Given the description of an element on the screen output the (x, y) to click on. 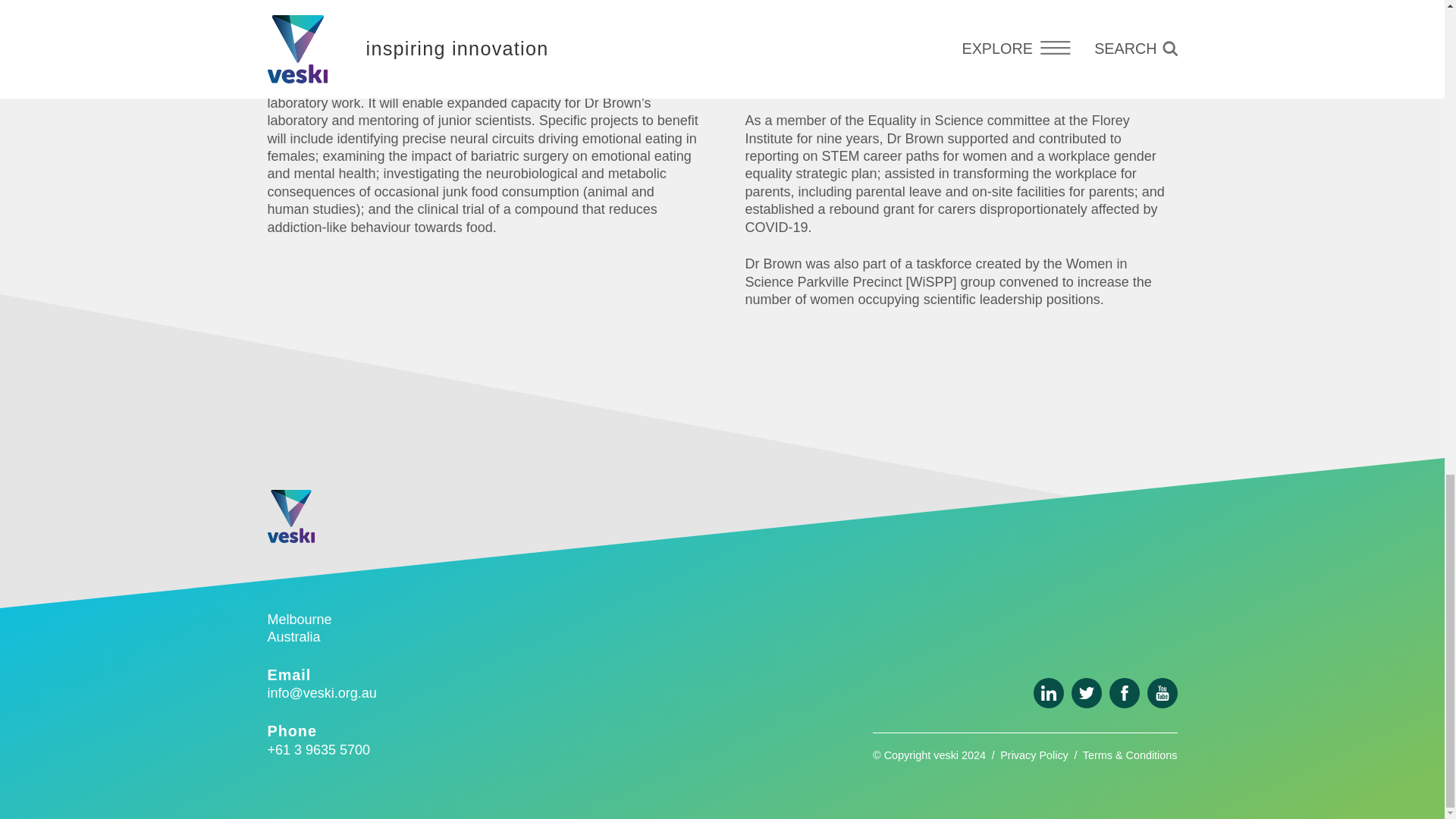
Connect with us on Twitter (1085, 693)
Connect with us on Facebook (1123, 693)
Connect with us on LinkedIn (1047, 693)
Connect with us on YouTube (1161, 693)
